Given the description of an element on the screen output the (x, y) to click on. 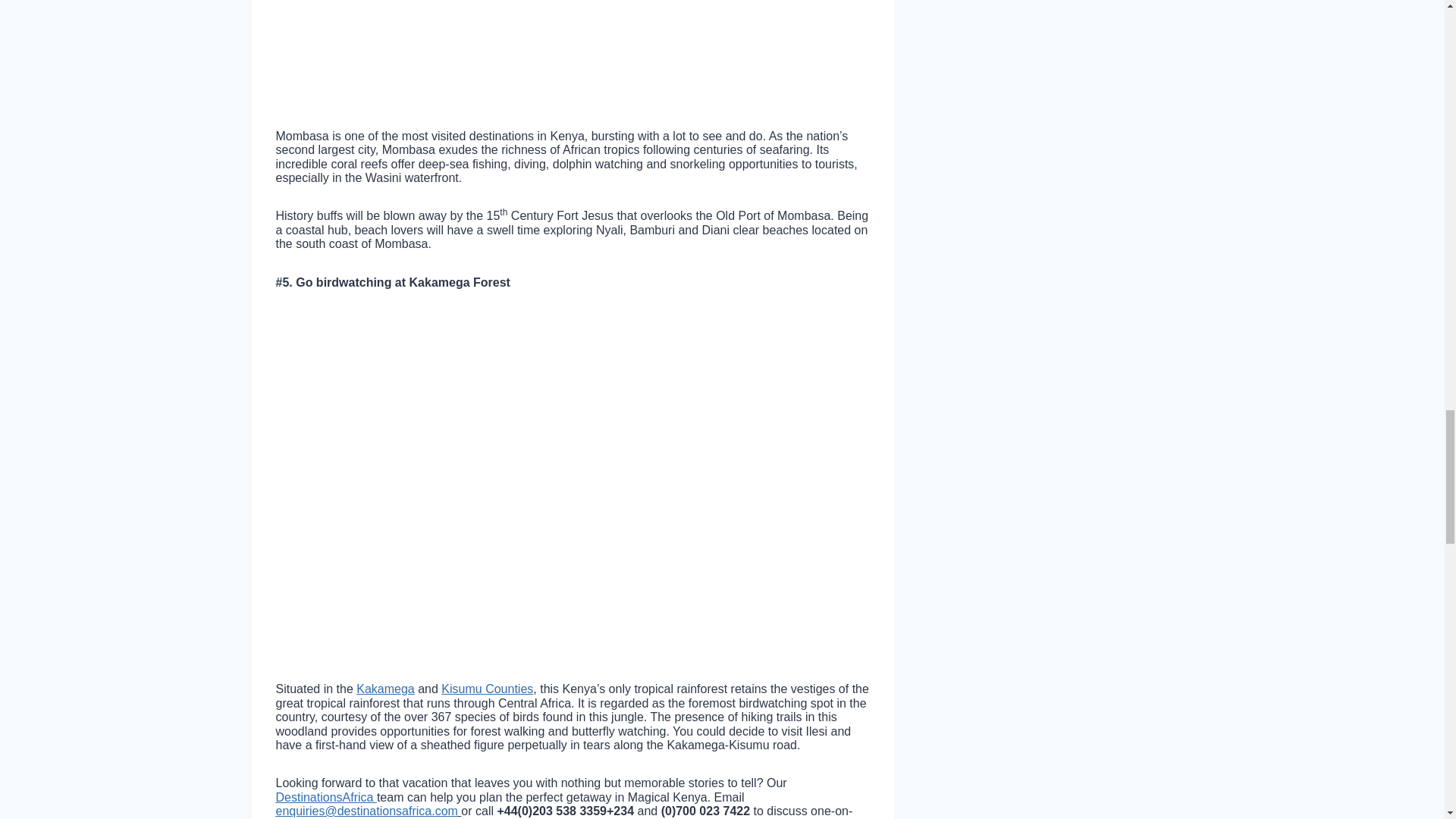
Kakamega (385, 688)
Kisumu Counties (486, 688)
DestinationsAfrica (326, 797)
